Given the description of an element on the screen output the (x, y) to click on. 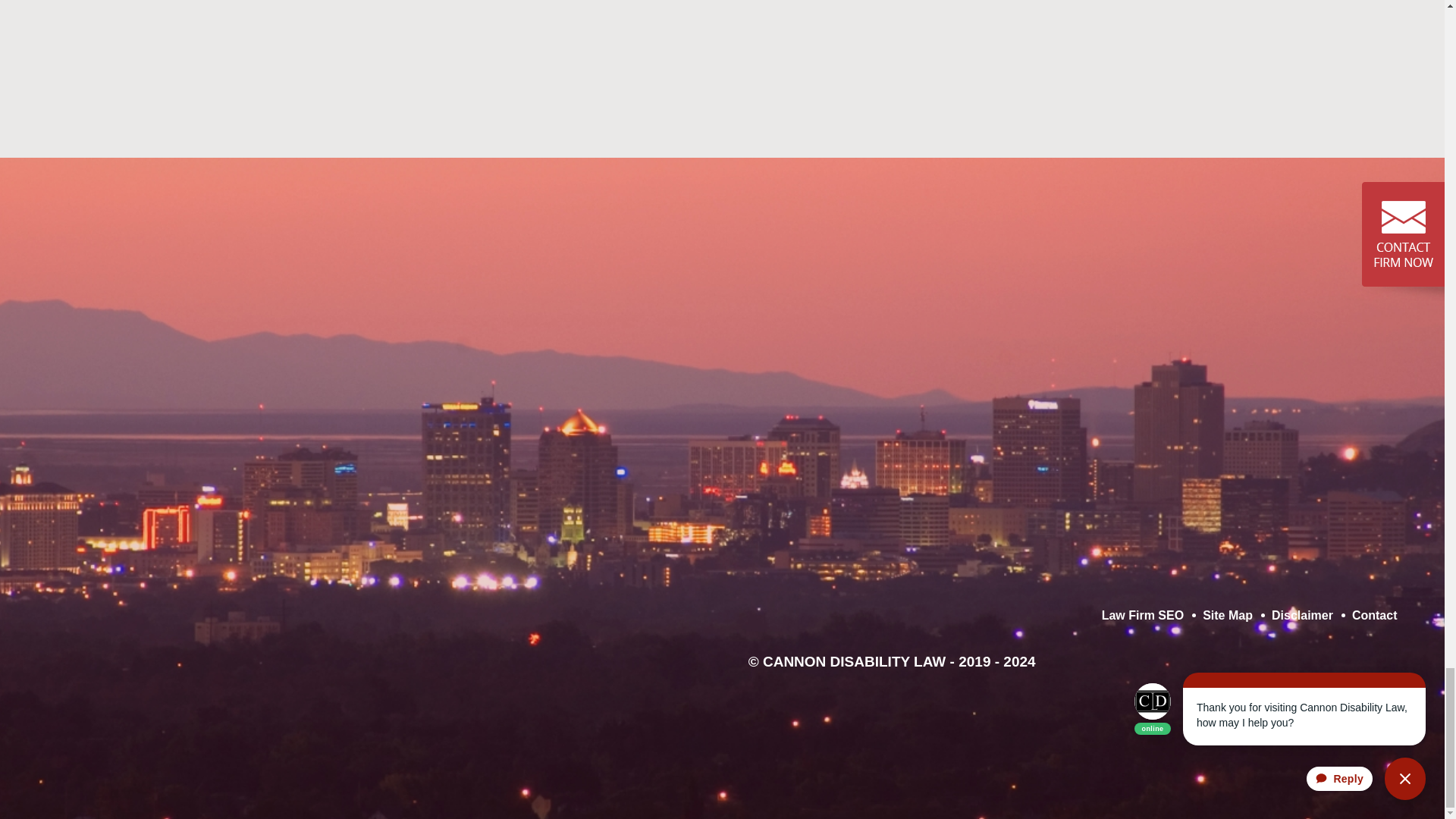
Facebook (156, 663)
Twitter (168, 664)
pinterest (241, 618)
youtube (472, 618)
LinkedIn (178, 664)
